Given the description of an element on the screen output the (x, y) to click on. 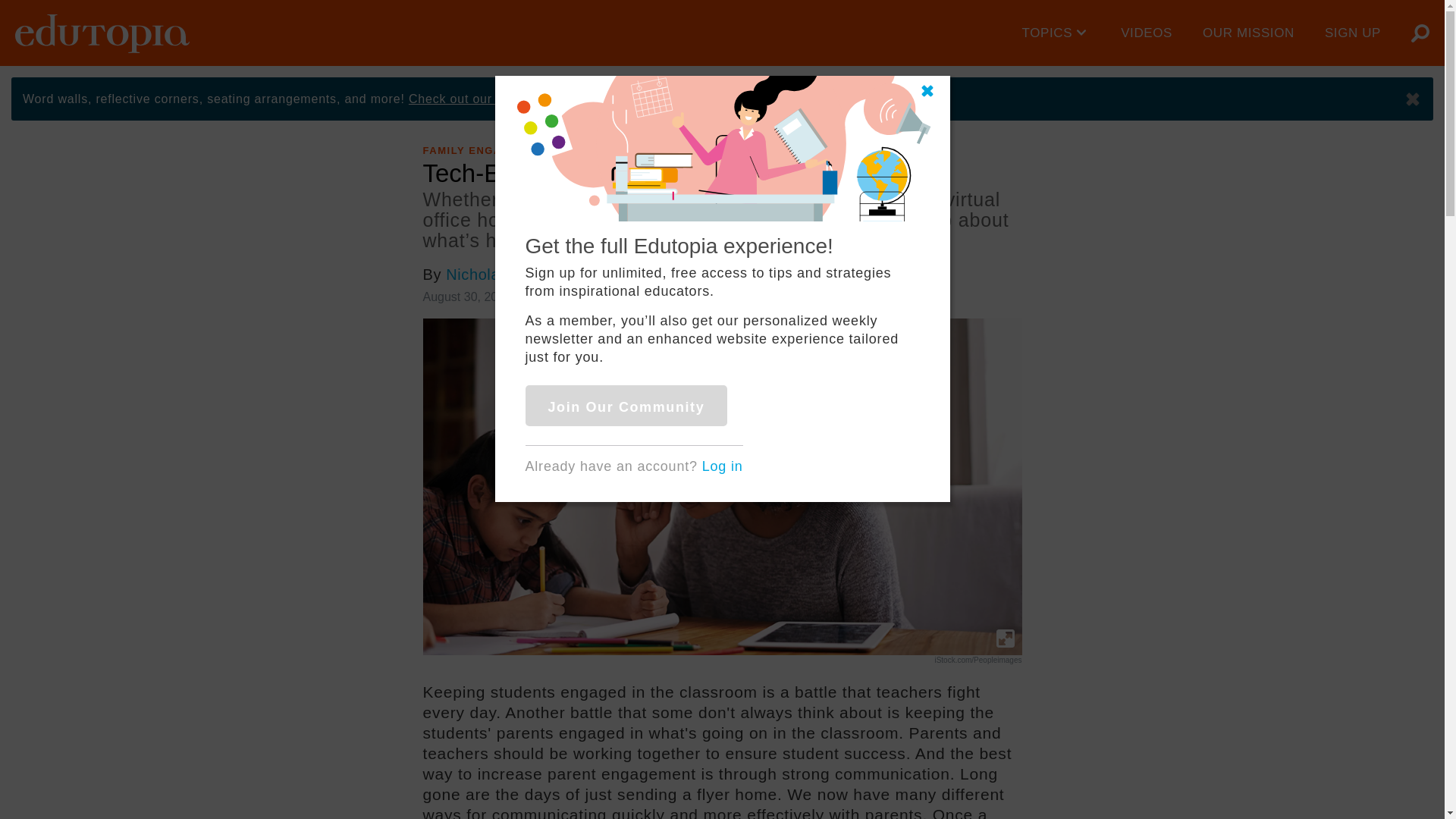
Edutopia (101, 33)
Check out our classroom design collection (535, 98)
Nicholas Provenzano (520, 274)
SIGN UP (1352, 33)
TOPICS (1056, 33)
OUR MISSION (1248, 33)
Edutopia (101, 33)
VIDEOS (1146, 33)
